Given the description of an element on the screen output the (x, y) to click on. 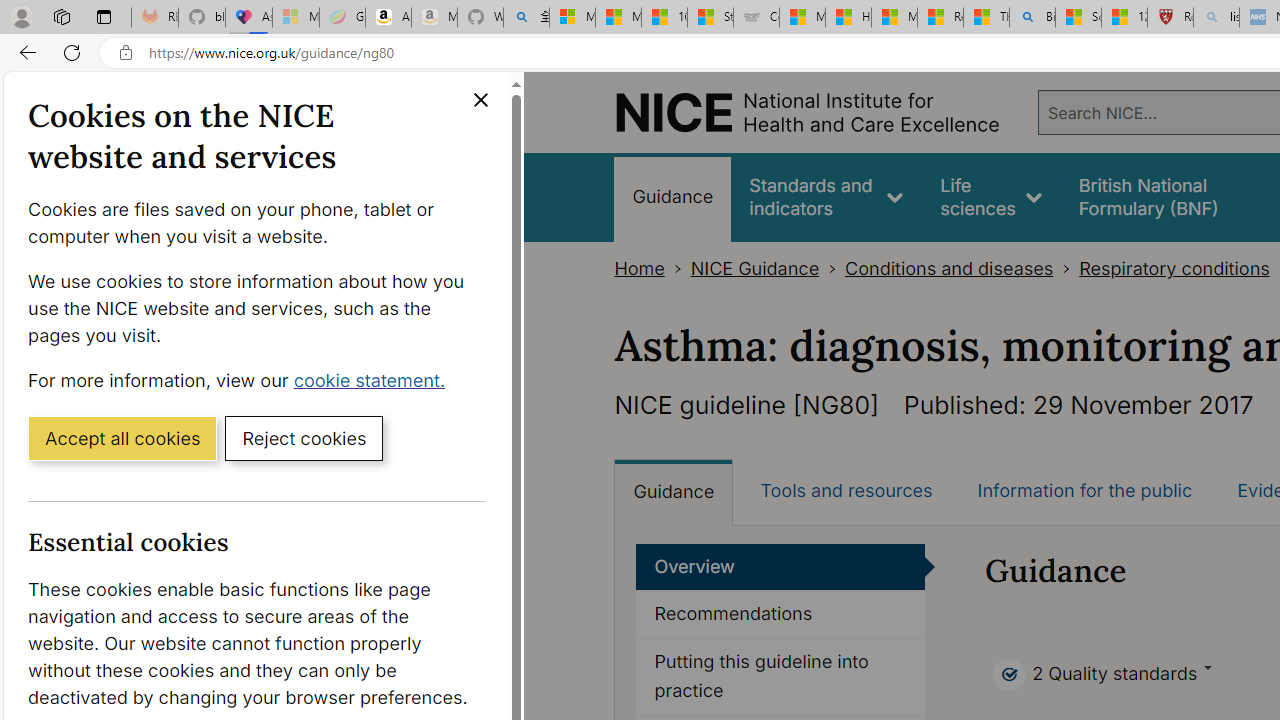
false (1167, 196)
cookie statement. (Opens in a new window) (373, 379)
Life sciences (991, 196)
How I Got Rid of Microsoft Edge's Unnecessary Features (848, 17)
Overview (781, 566)
Guidance (673, 491)
NICE Guidance> (767, 268)
